Given the description of an element on the screen output the (x, y) to click on. 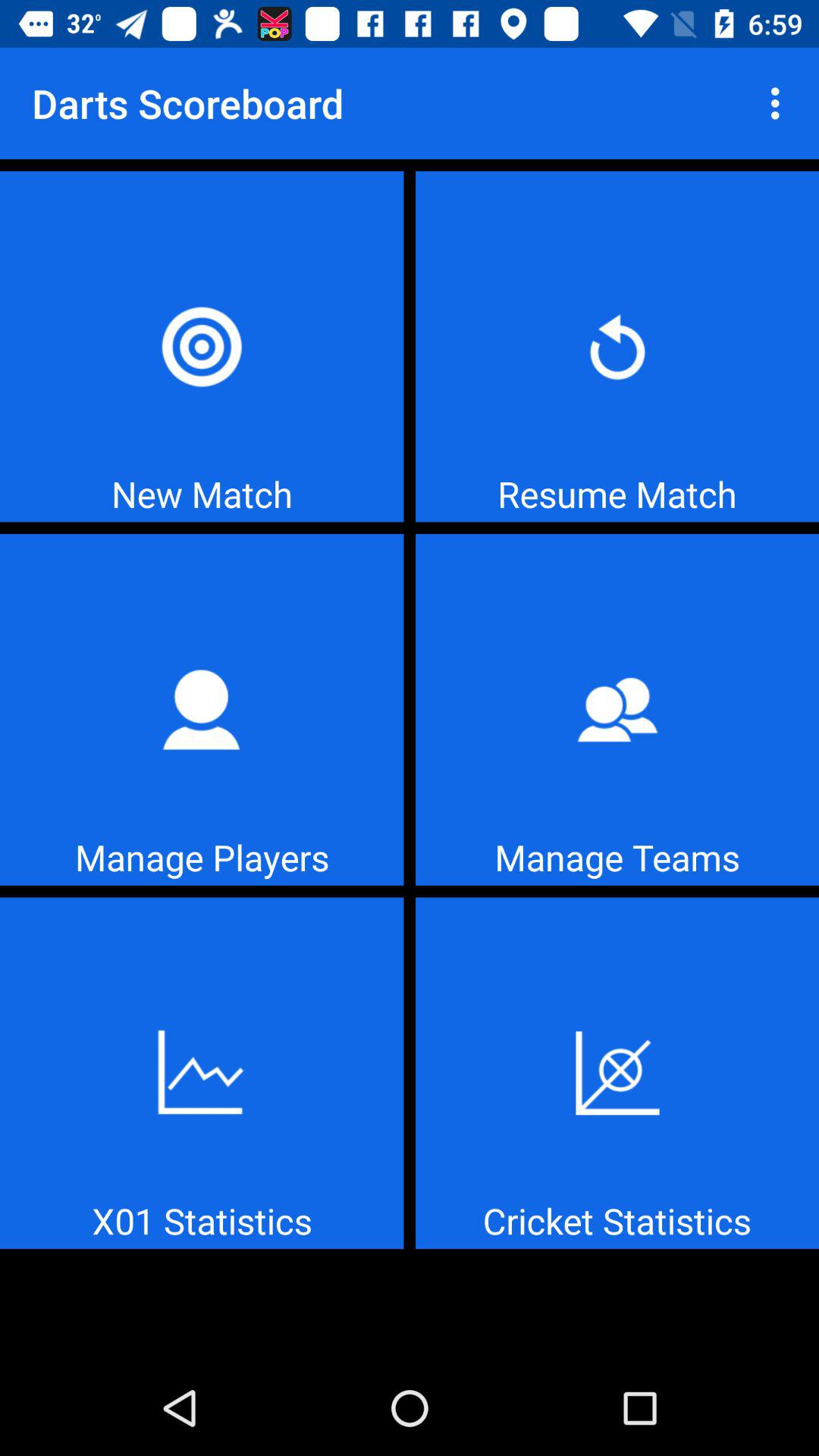
manage your teams (617, 709)
